Given the description of an element on the screen output the (x, y) to click on. 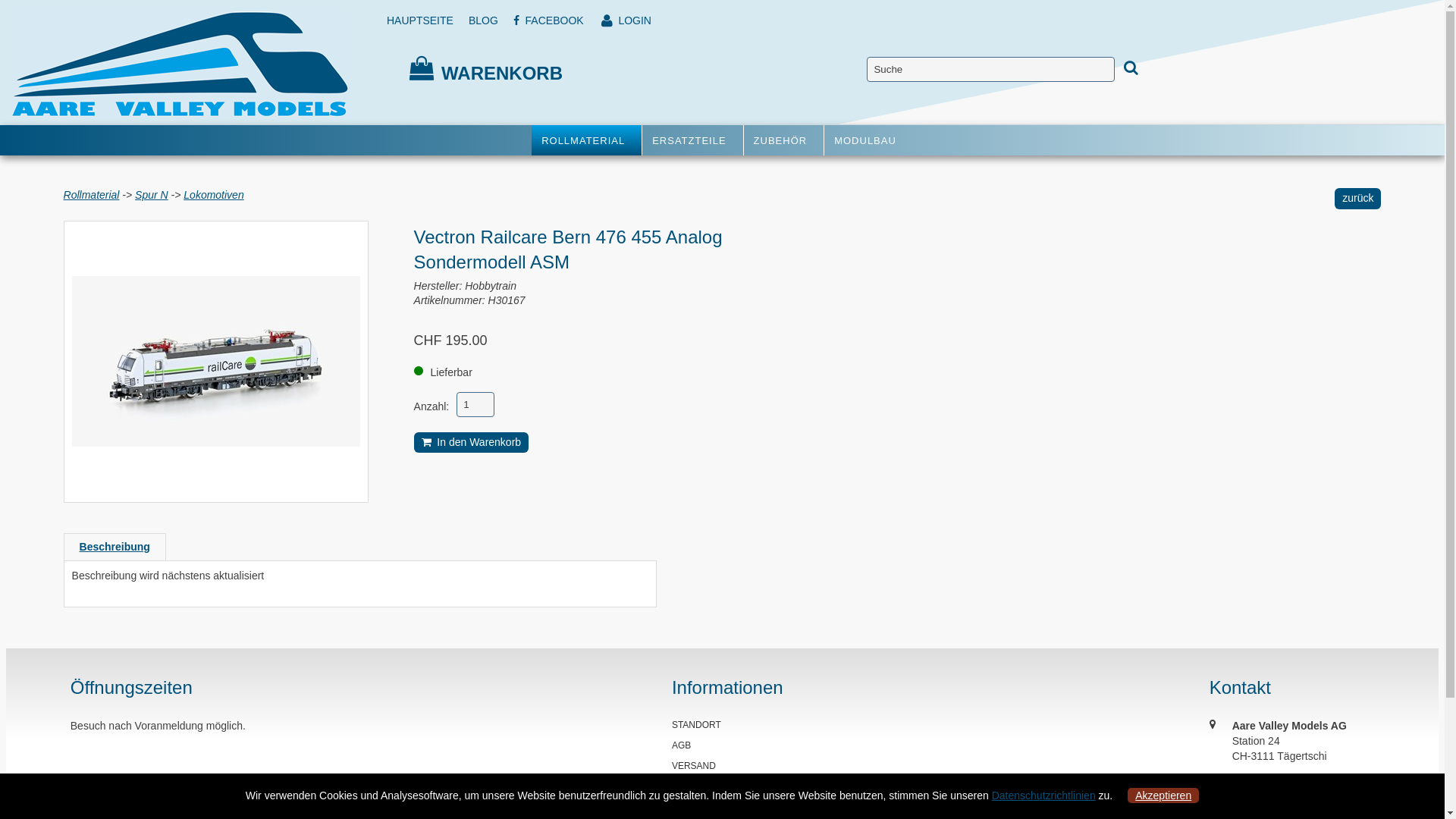
  In den Warenkorb Element type: text (471, 442)
BLOG Element type: text (483, 20)
AGB Element type: text (680, 745)
STANDORT Element type: text (696, 724)
Datenschutzrichtlinien Element type: text (1043, 795)
VERSAND Element type: text (693, 765)
Aare Valley Models AG Element type: hover (180, 64)
info@aare-valley-models.ch Element type: text (1298, 781)
Spur N Element type: text (151, 194)
Rollmaterial Element type: text (91, 194)
HAUPTSEITE Element type: text (419, 20)
  FACEBOOK Element type: text (548, 20)
Warenkorb Element type: hover (421, 68)
Lieferbar Element type: hover (418, 370)
DATENSCHUTZ Element type: text (704, 806)
Akzeptieren Element type: text (1162, 795)
ERSATZTEILE Element type: text (692, 140)
ROLLMATERIAL Element type: text (586, 140)
MODULBAU Element type: text (868, 140)
IMPRESSUM Element type: text (699, 786)
Beschreibung Element type: text (114, 546)
  LOGIN Element type: text (626, 20)
Lokomotiven Element type: text (213, 194)
